Given the description of an element on the screen output the (x, y) to click on. 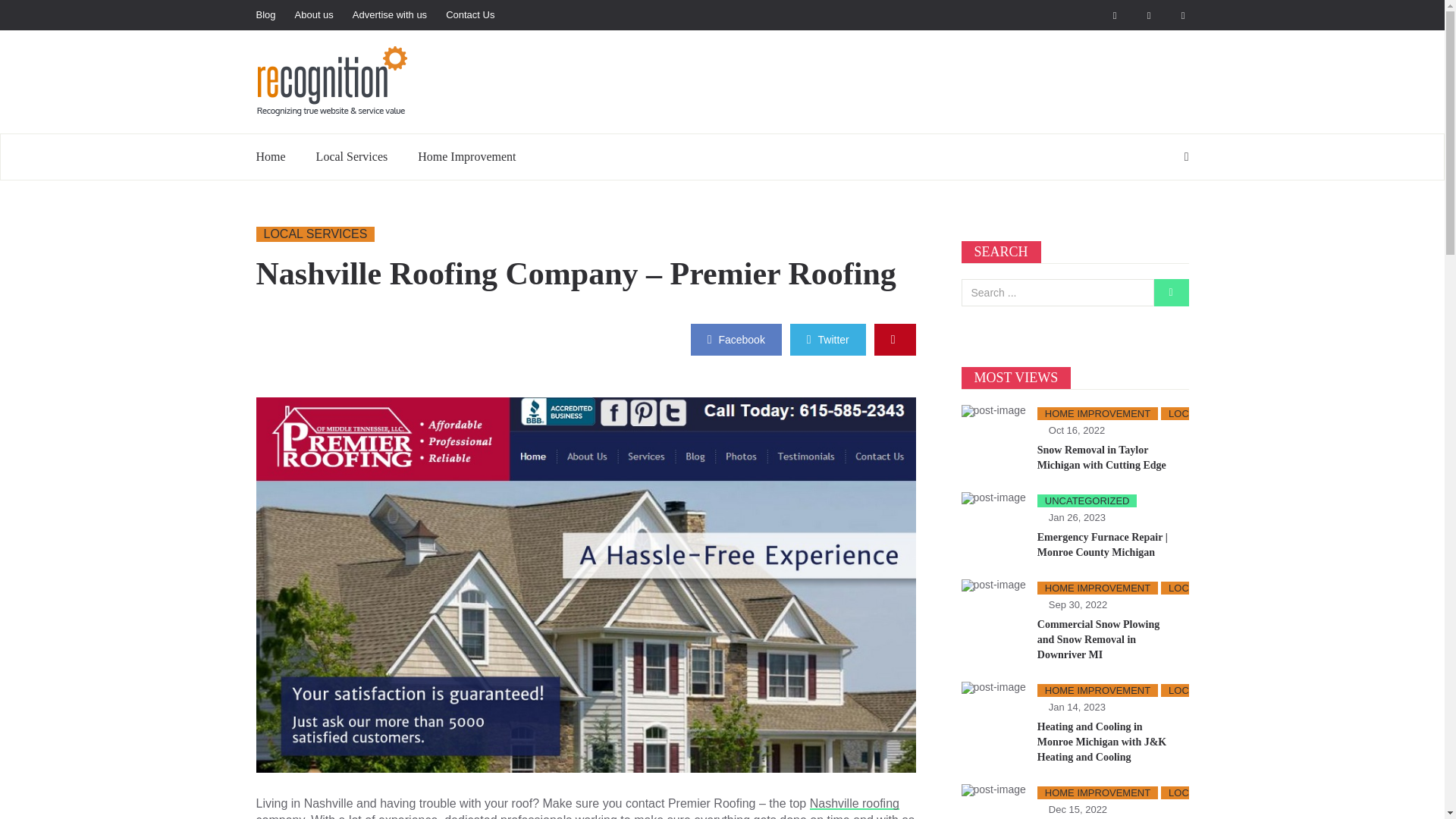
ion-social-facebook (1101, 15)
Facebook (736, 339)
Advertise with us (398, 15)
Local Services (352, 156)
Nashville roofing company (577, 807)
Blog (275, 15)
ion-social-youtube (1136, 15)
Home Improvement (467, 156)
LOCAL SERVICES (315, 233)
Home (278, 156)
